Given the description of an element on the screen output the (x, y) to click on. 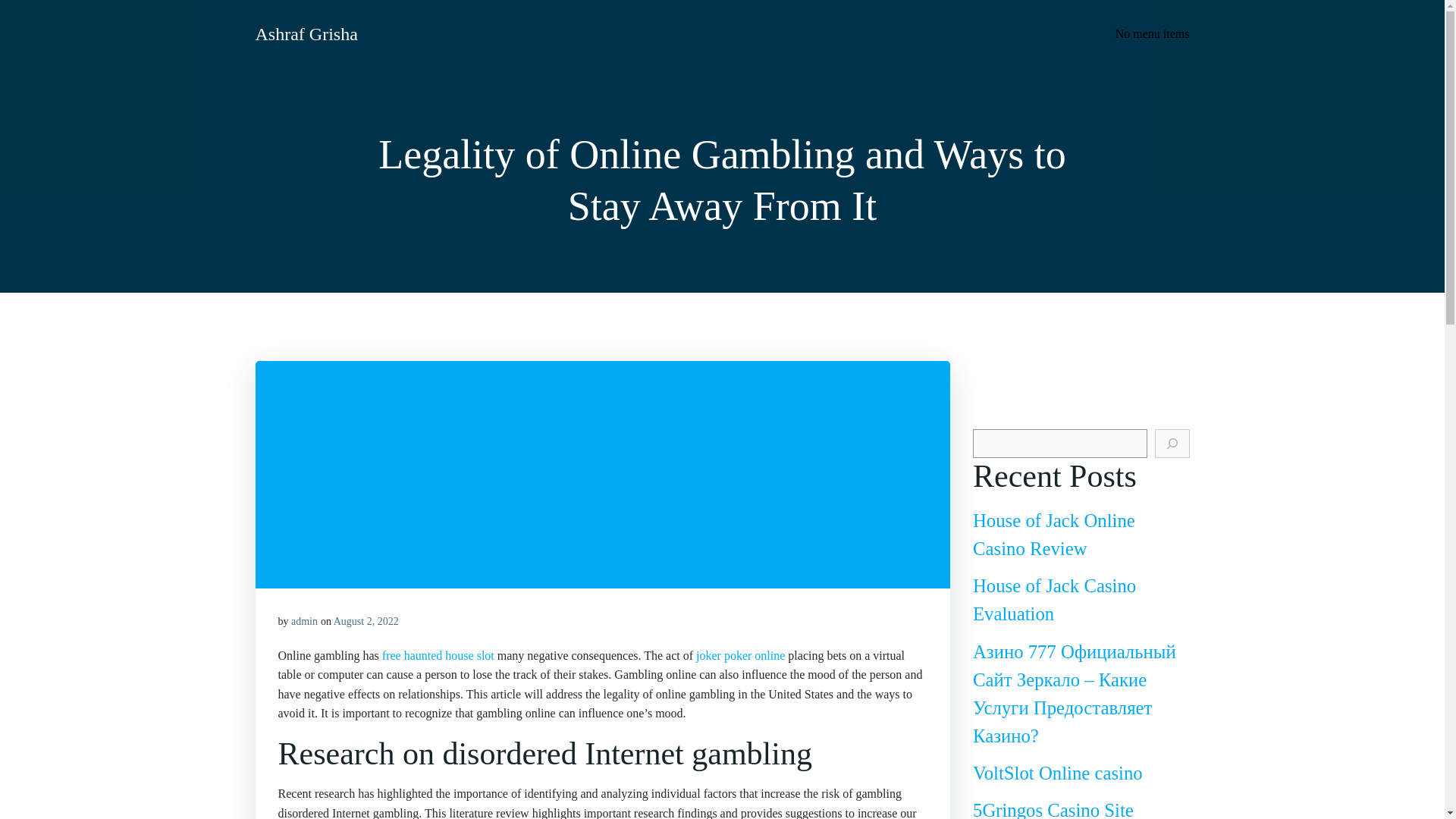
5Gringos Casino Site Reviews Australia (1053, 809)
Ashraf Grisha (305, 33)
free haunted house slot (438, 655)
August 2, 2022 (365, 621)
joker poker online (739, 655)
VoltSlot Online casino (1057, 772)
admin (304, 621)
Colibri (870, 773)
House of Jack Online Casino Review (1053, 534)
House of Jack Casino Evaluation (1053, 599)
